Given the description of an element on the screen output the (x, y) to click on. 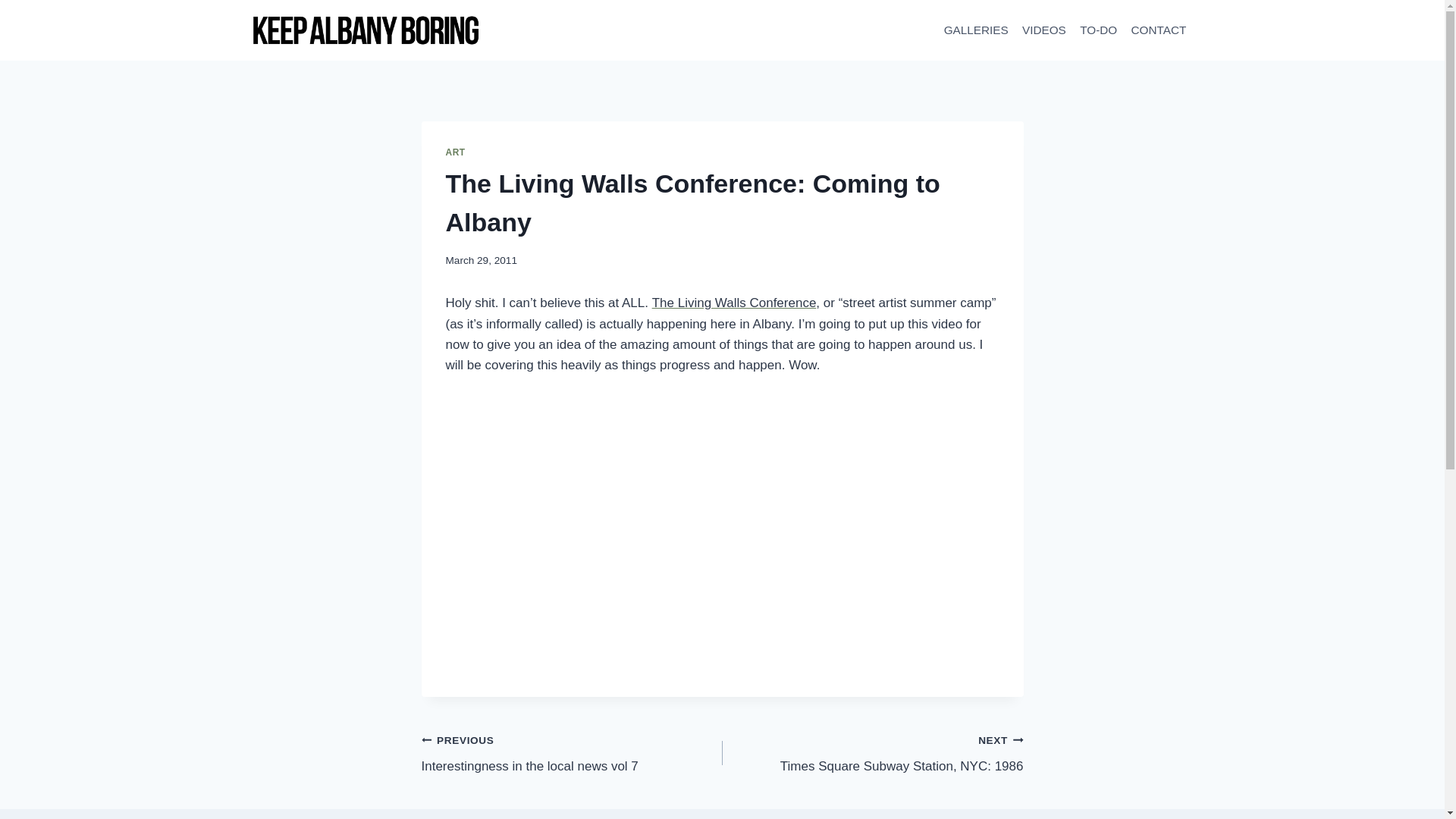
The Living Walls Conference (572, 753)
GALLERIES (872, 753)
ART (734, 302)
CONTACT (975, 30)
VIDEOS (455, 152)
TO-DO (1158, 30)
